Given the description of an element on the screen output the (x, y) to click on. 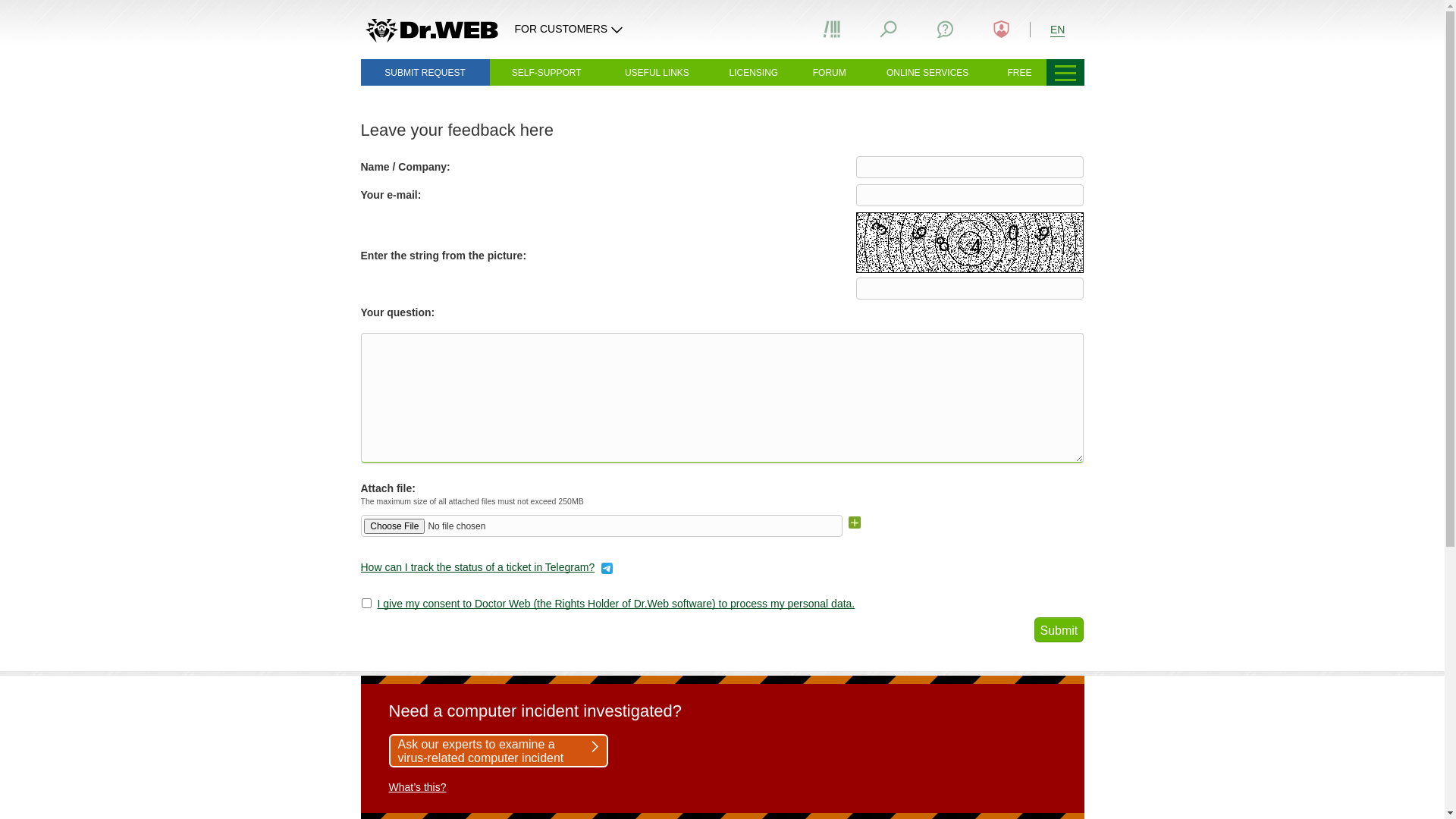
Submit Element type: text (1059, 629)
How can I track the status of a ticket in Telegram? Element type: text (477, 567)
Profile Element type: text (1001, 28)
Other sections Element type: hover (1065, 72)
FORUM Element type: text (829, 72)
SELF-SUPPORT Element type: text (546, 72)
Library Element type: text (831, 28)
ONLINE SERVICES Element type: text (927, 72)
Contact us Element type: text (944, 28)
FREE Element type: text (1019, 72)
Ask our experts to examine a virus-related computer incident Element type: text (497, 750)
USEFUL LINKS Element type: text (656, 72)
Search Element type: text (888, 28)
LICENSING Element type: text (753, 72)
EN Element type: text (1057, 28)
SUBMIT REQUEST Element type: text (424, 72)
FOR CUSTOMERS Element type: text (570, 28)
